Given the description of an element on the screen output the (x, y) to click on. 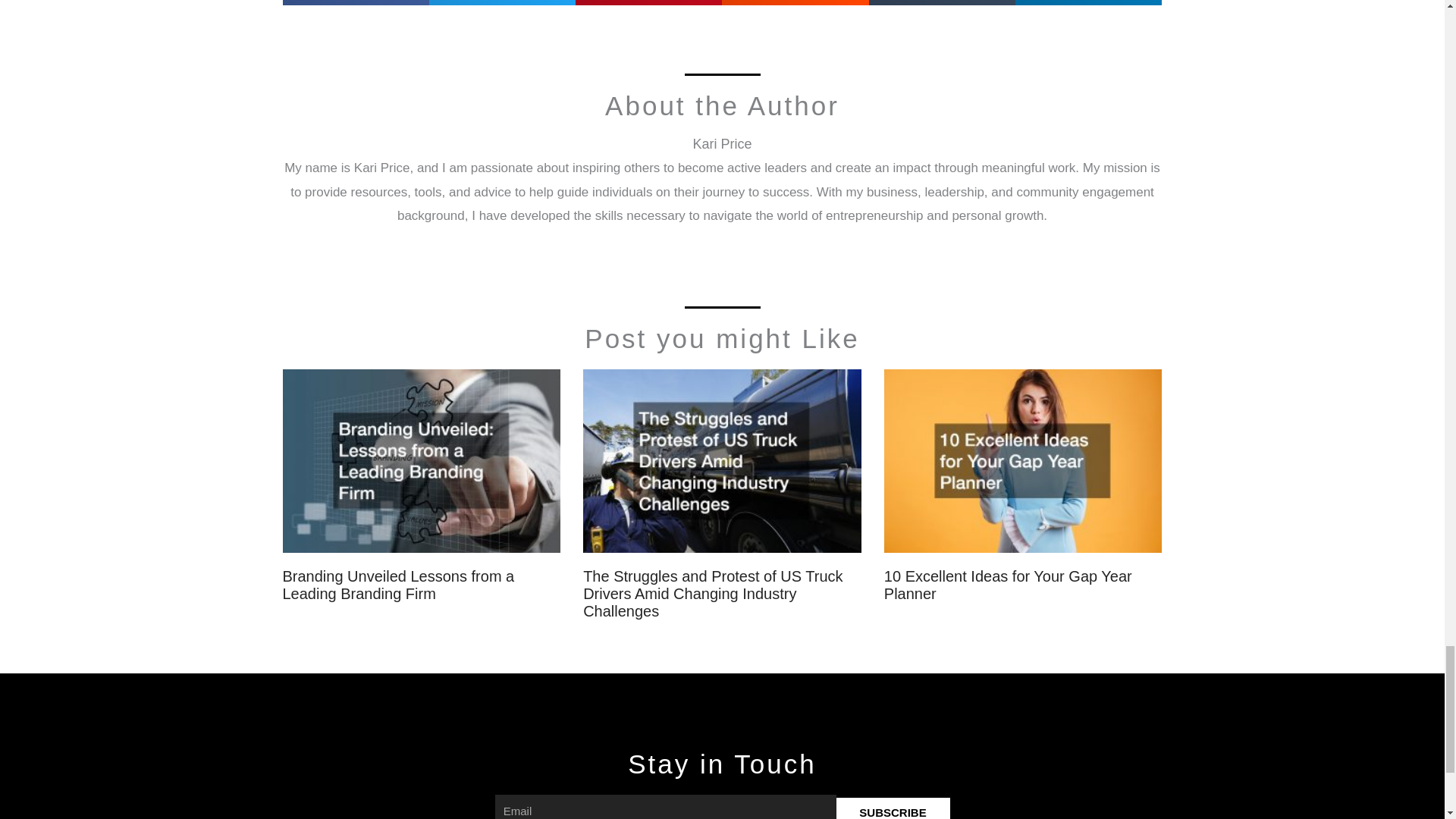
10 Excellent Ideas for Your Gap Year Planner (1007, 584)
Branding Unveiled Lessons from a Leading Branding Firm (397, 584)
SUBSCRIBE (892, 808)
